Given the description of an element on the screen output the (x, y) to click on. 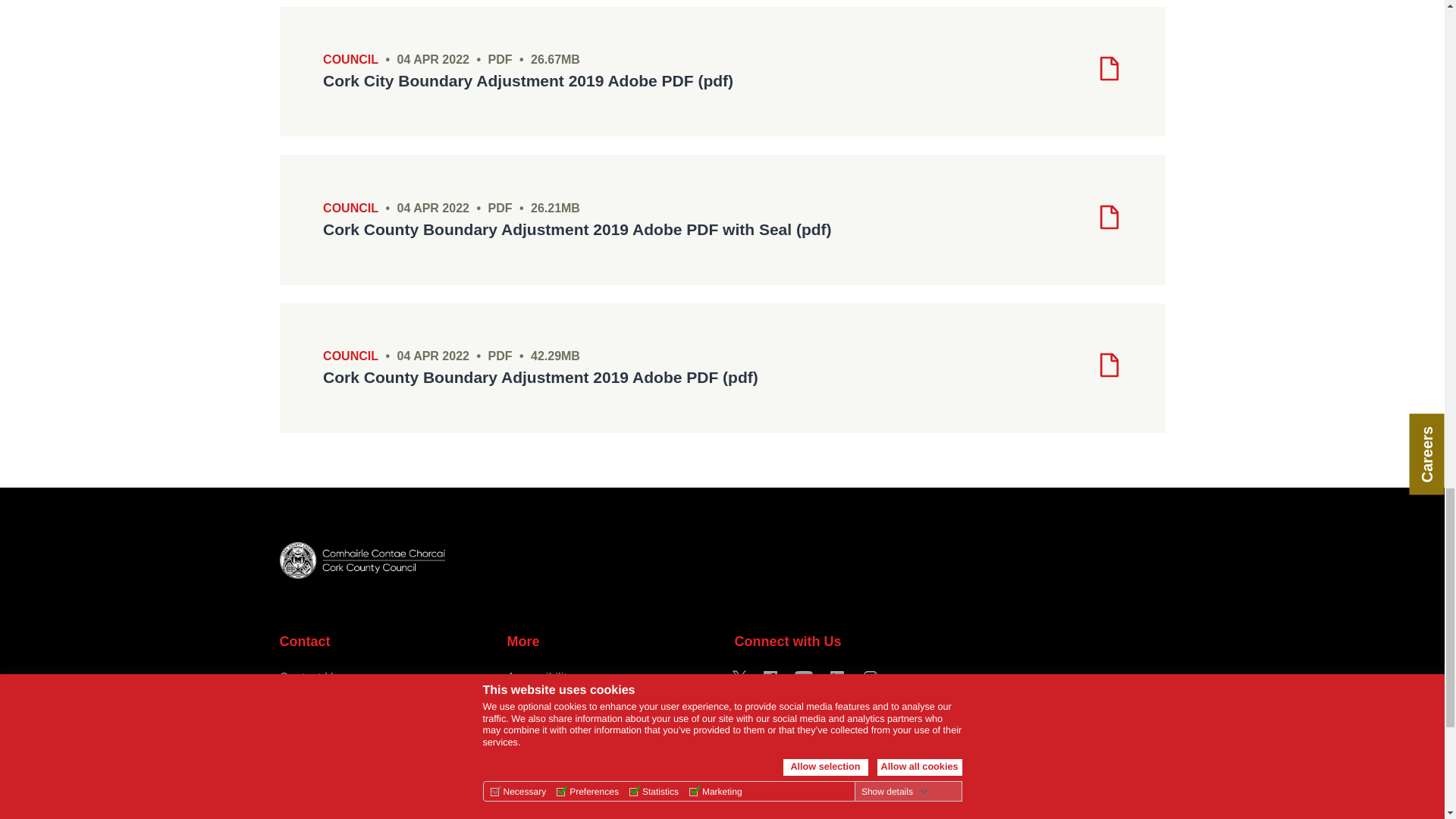
File Download Icon (1109, 364)
File Download Icon (1109, 68)
File Download Icon (1109, 216)
